Given the description of an element on the screen output the (x, y) to click on. 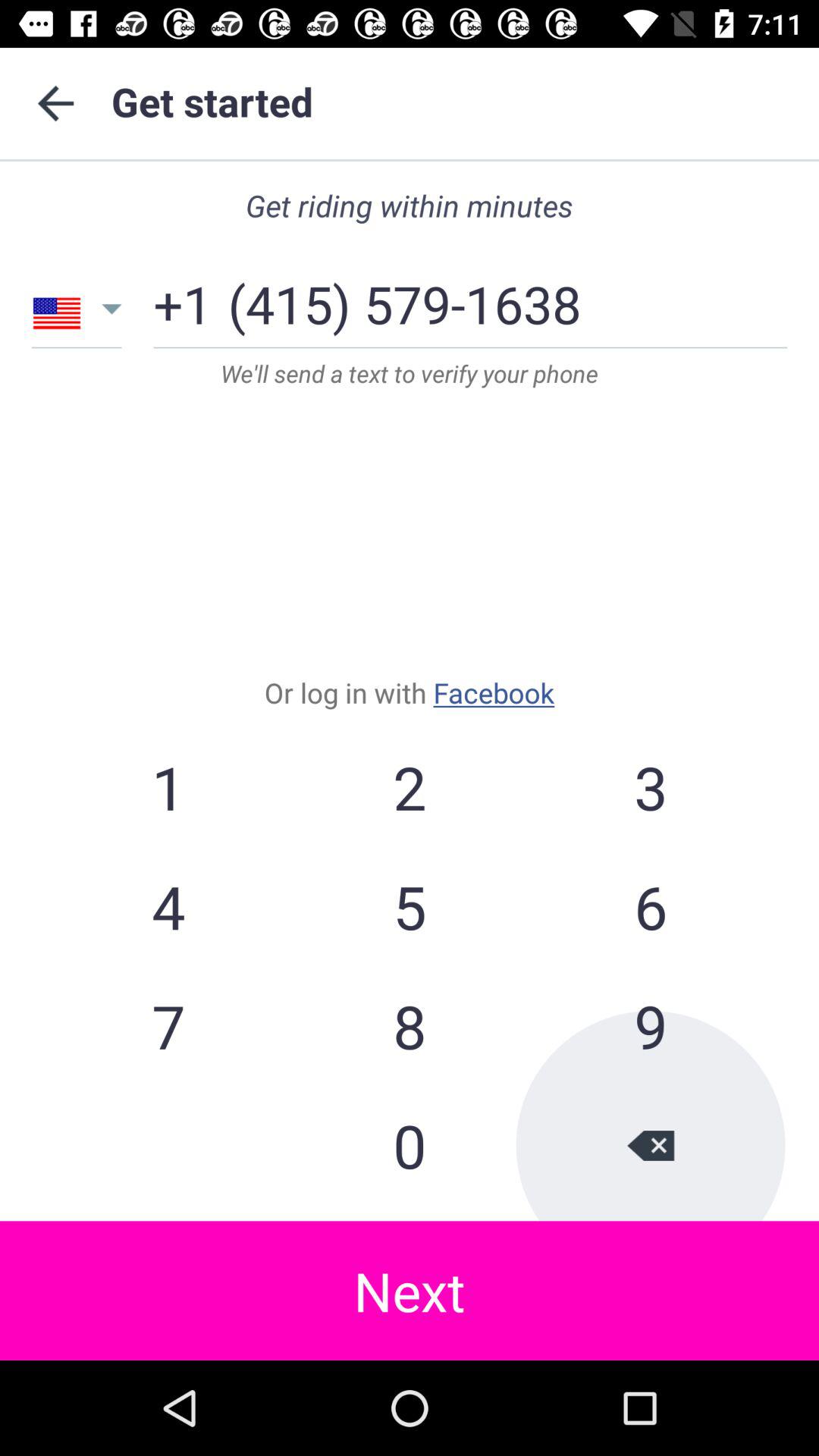
select the 5 icon (409, 906)
